Given the description of an element on the screen output the (x, y) to click on. 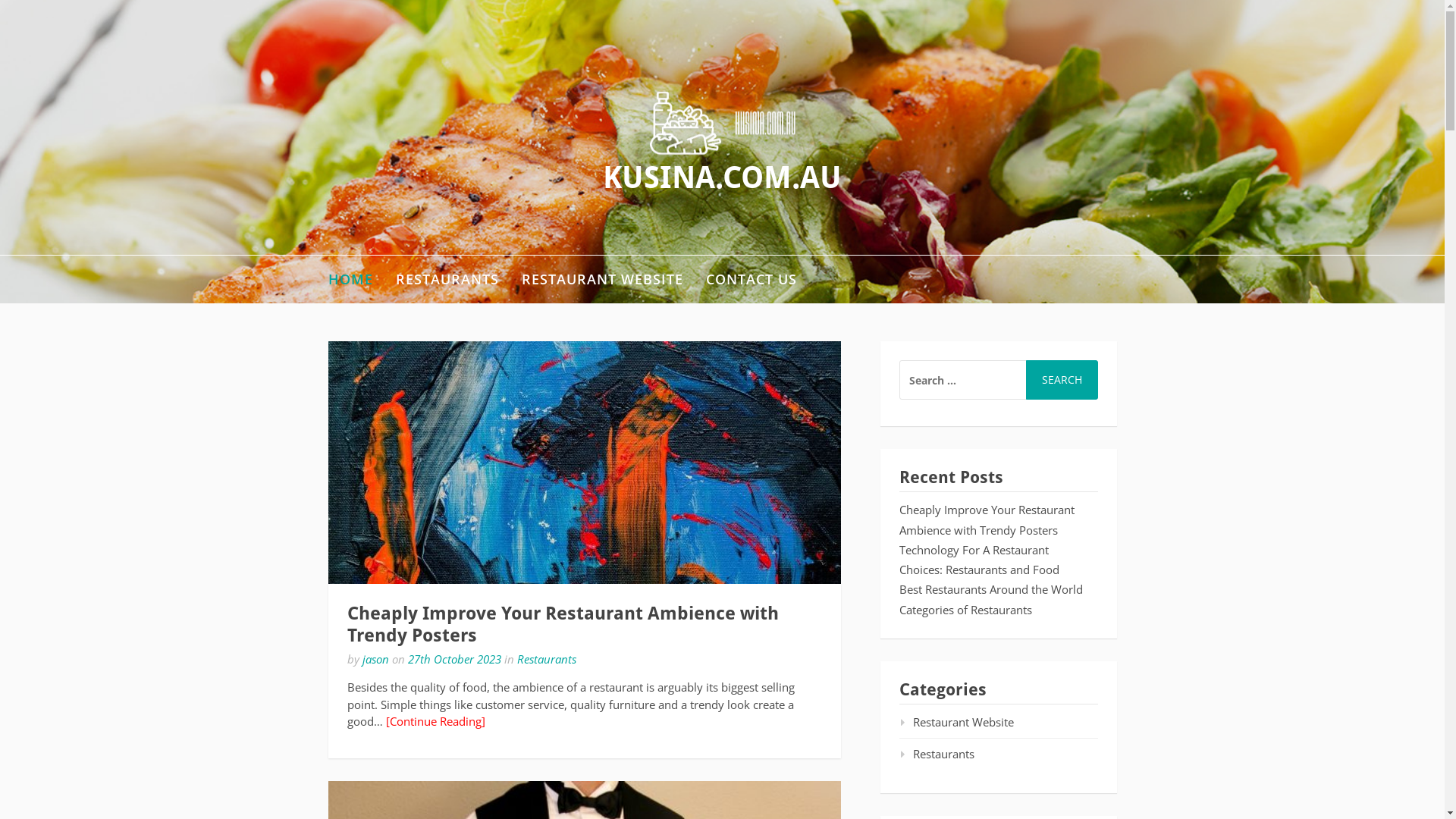
Restaurants Element type: text (936, 753)
[Continue Reading] Element type: text (434, 720)
HOME Element type: text (349, 279)
Restaurants Element type: text (546, 658)
Technology For A Restaurant Element type: text (973, 549)
jason Element type: text (375, 658)
Cheaply Improve Your Restaurant Ambience with Trendy Posters Element type: text (562, 624)
KUSINA.COM.AU Element type: text (721, 177)
Restaurant Website Element type: text (956, 721)
Cheaply Improve Your Restaurant Ambience with Trendy Posters Element type: text (986, 519)
27th October 2023 Element type: text (454, 658)
Best Restaurants Around the World Element type: text (990, 588)
Categories of Restaurants Element type: text (965, 609)
Search Element type: text (1061, 379)
RESTAURANT WEBSITE Element type: text (602, 279)
Cheaply Improve Your Restaurant Ambience with Trendy Posters Element type: hover (583, 462)
RESTAURANTS Element type: text (446, 279)
Choices: Restaurants and Food Element type: text (979, 569)
CONTACT US Element type: text (750, 279)
Skip to content Element type: text (0, 0)
